Given the description of an element on the screen output the (x, y) to click on. 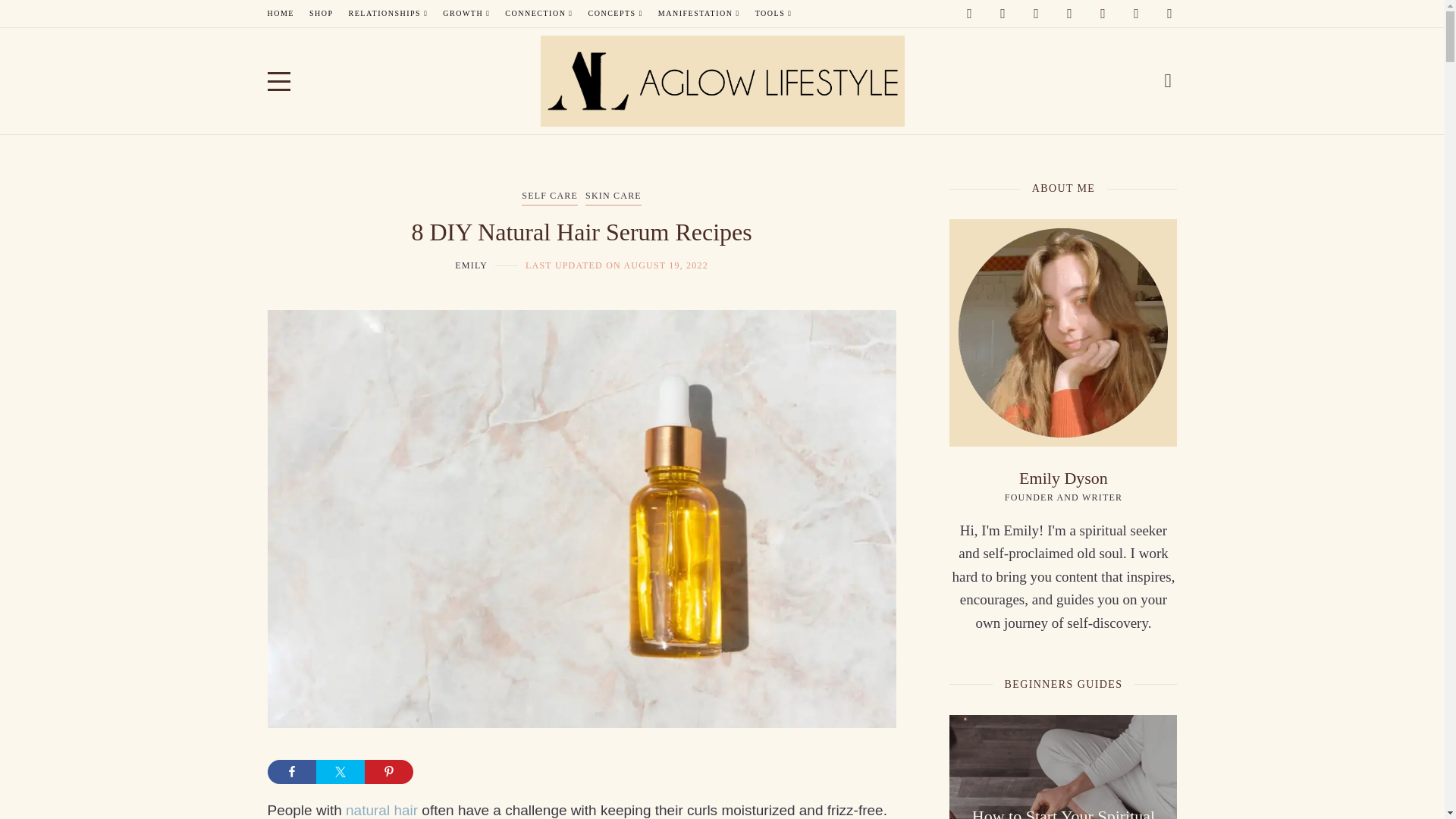
Twitter (1169, 13)
Instagram (1036, 13)
Pinterest (1069, 13)
Share on Twitter (339, 771)
Share on Facebook (290, 771)
Facebook (1002, 13)
SHOP (320, 13)
SKIN CARE (613, 197)
HOME (280, 13)
